Given the description of an element on the screen output the (x, y) to click on. 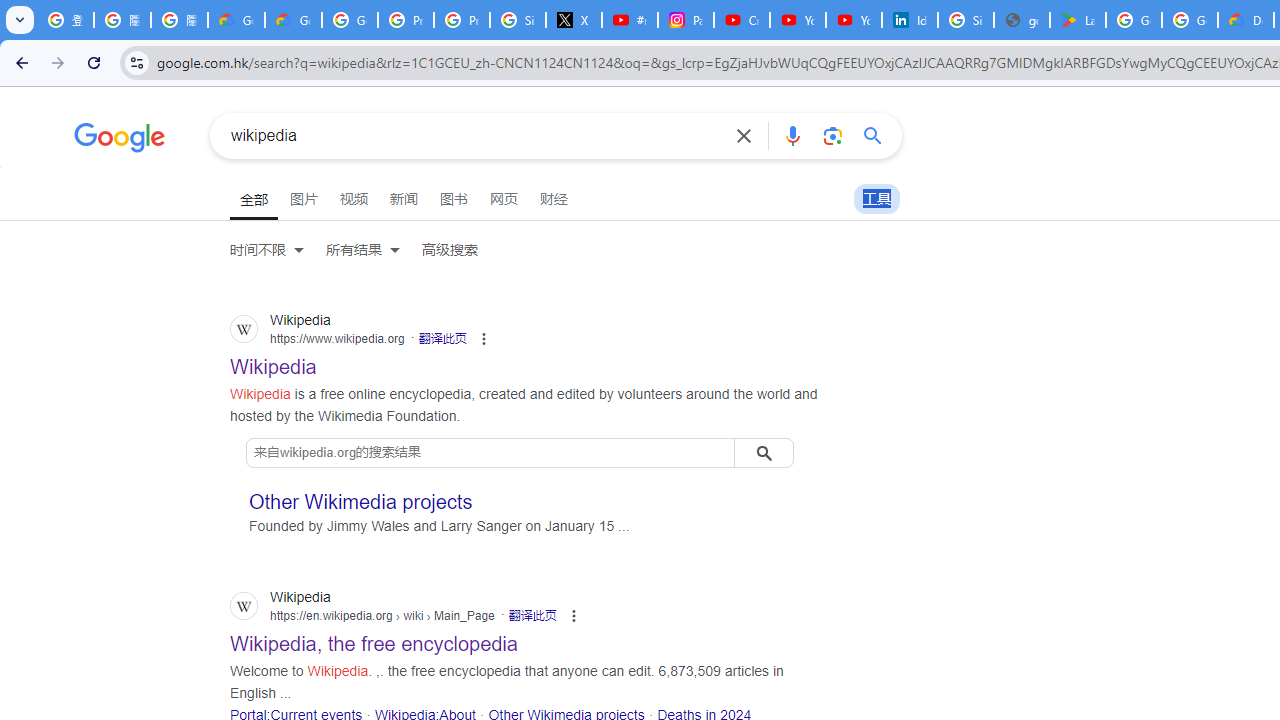
Google Cloud Privacy Notice (293, 20)
X (573, 20)
Google Cloud Privacy Notice (235, 20)
Last Shelter: Survival - Apps on Google Play (1077, 20)
Privacy Help Center - Policies Help (461, 20)
Google Workspace - Specific Terms (1190, 20)
